Given the description of an element on the screen output the (x, y) to click on. 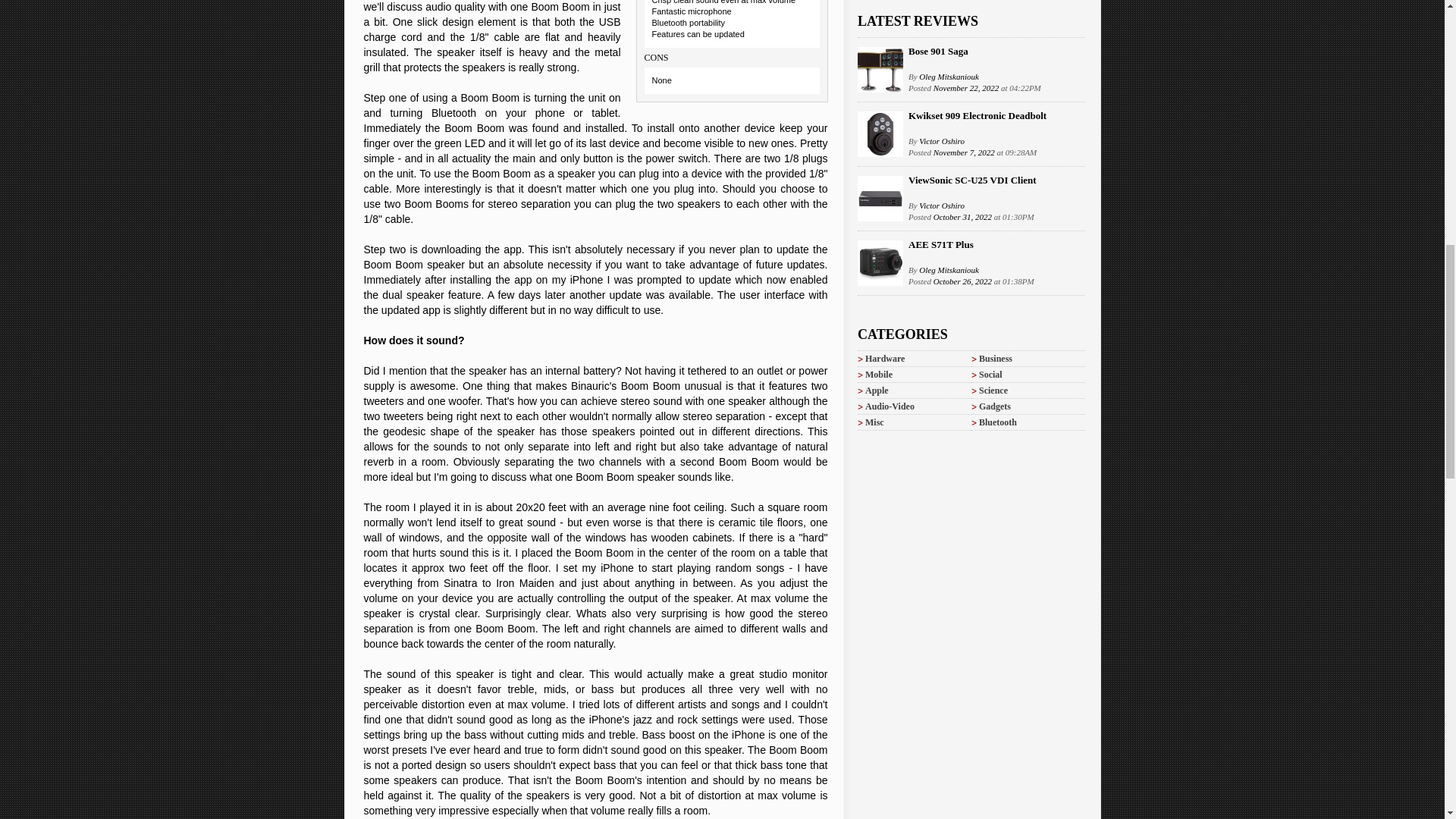
Kwikset 909 Electronic Deadbolt (977, 115)
Bose 901 Saga (938, 50)
